Given the description of an element on the screen output the (x, y) to click on. 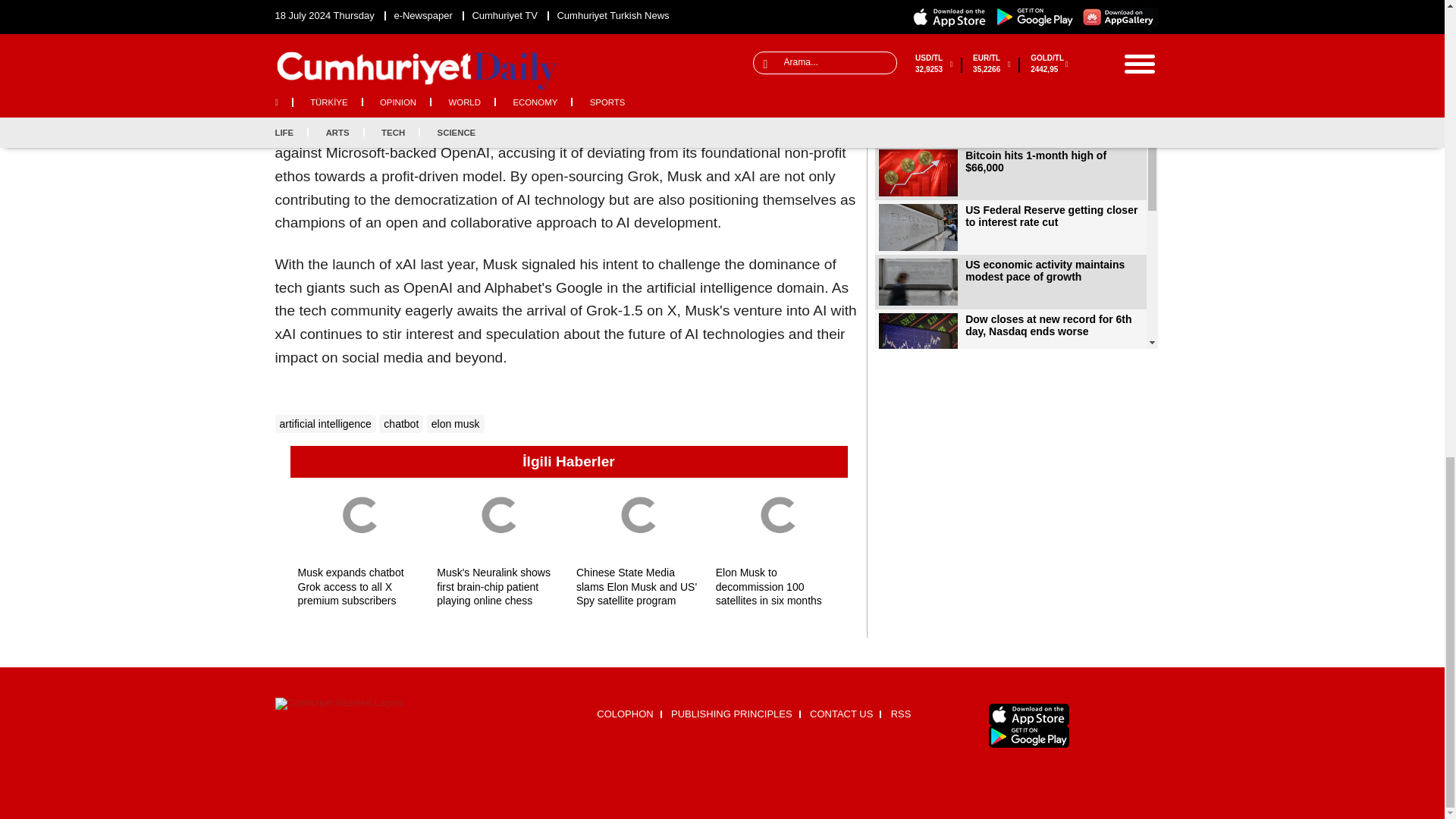
Elon Musk to decommission 100 satellites in six months (778, 521)
